Given the description of an element on the screen output the (x, y) to click on. 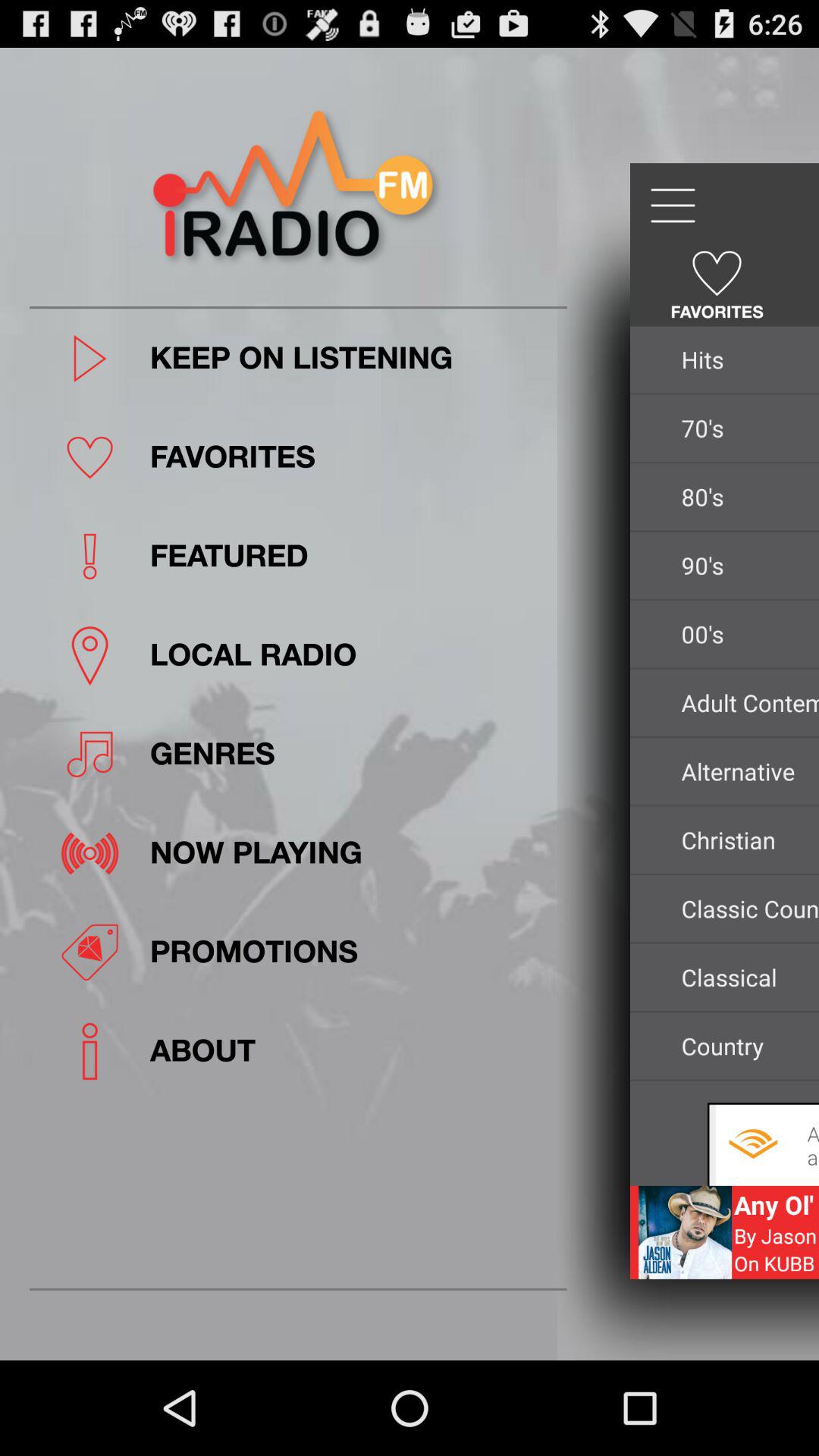
scroll to about app (353, 1051)
